Given the description of an element on the screen output the (x, y) to click on. 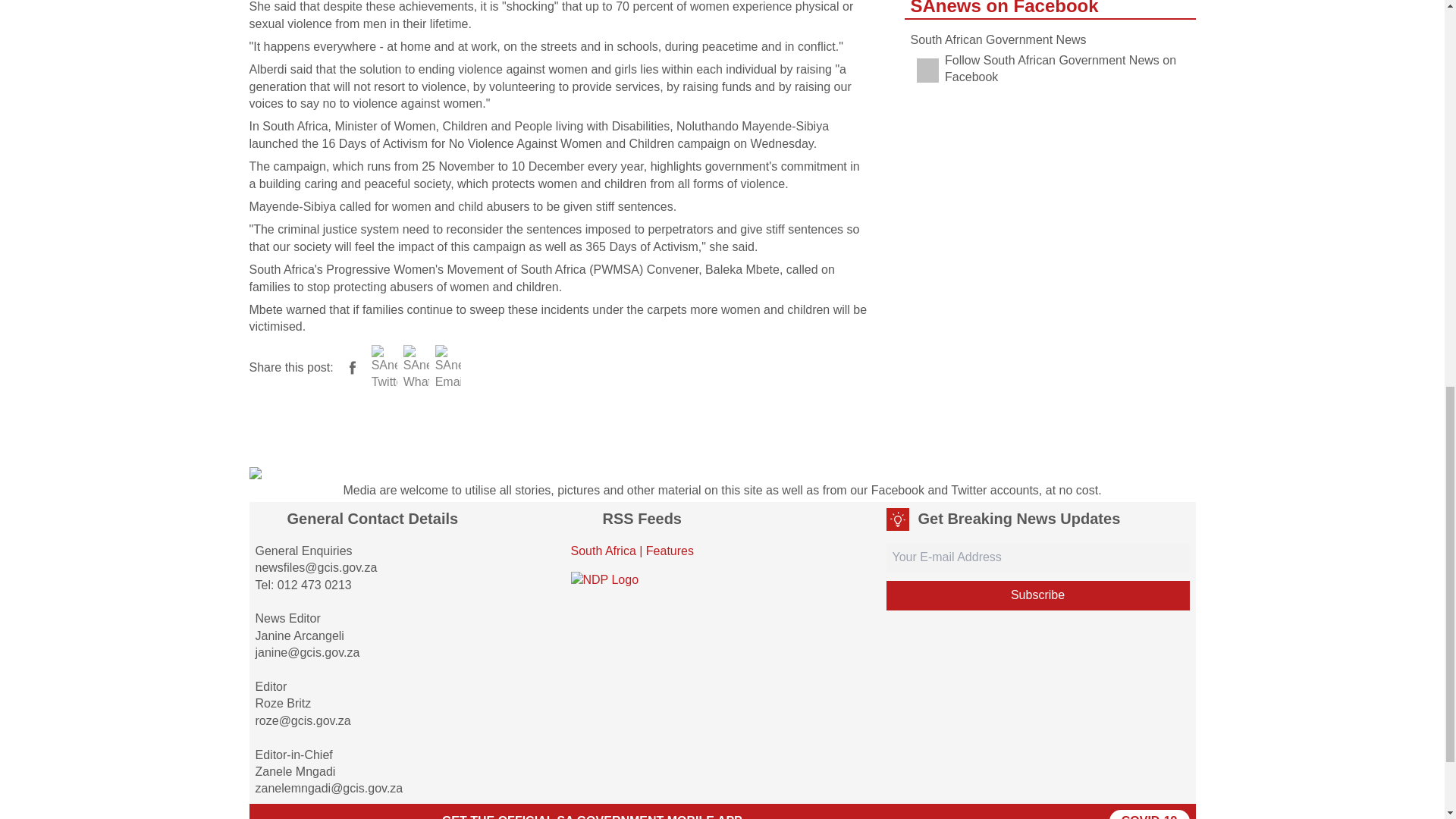
Download from the iTunes App Store (381, 814)
Download from the Google Play Store (292, 814)
Subscribe (1037, 594)
Subscribe (1037, 594)
COVID-19 (1149, 814)
Features (670, 550)
South Africa (602, 550)
Share on Facebook (352, 368)
South African Government News (998, 39)
Follow South African Government News on Facebook (1049, 69)
